Given the description of an element on the screen output the (x, y) to click on. 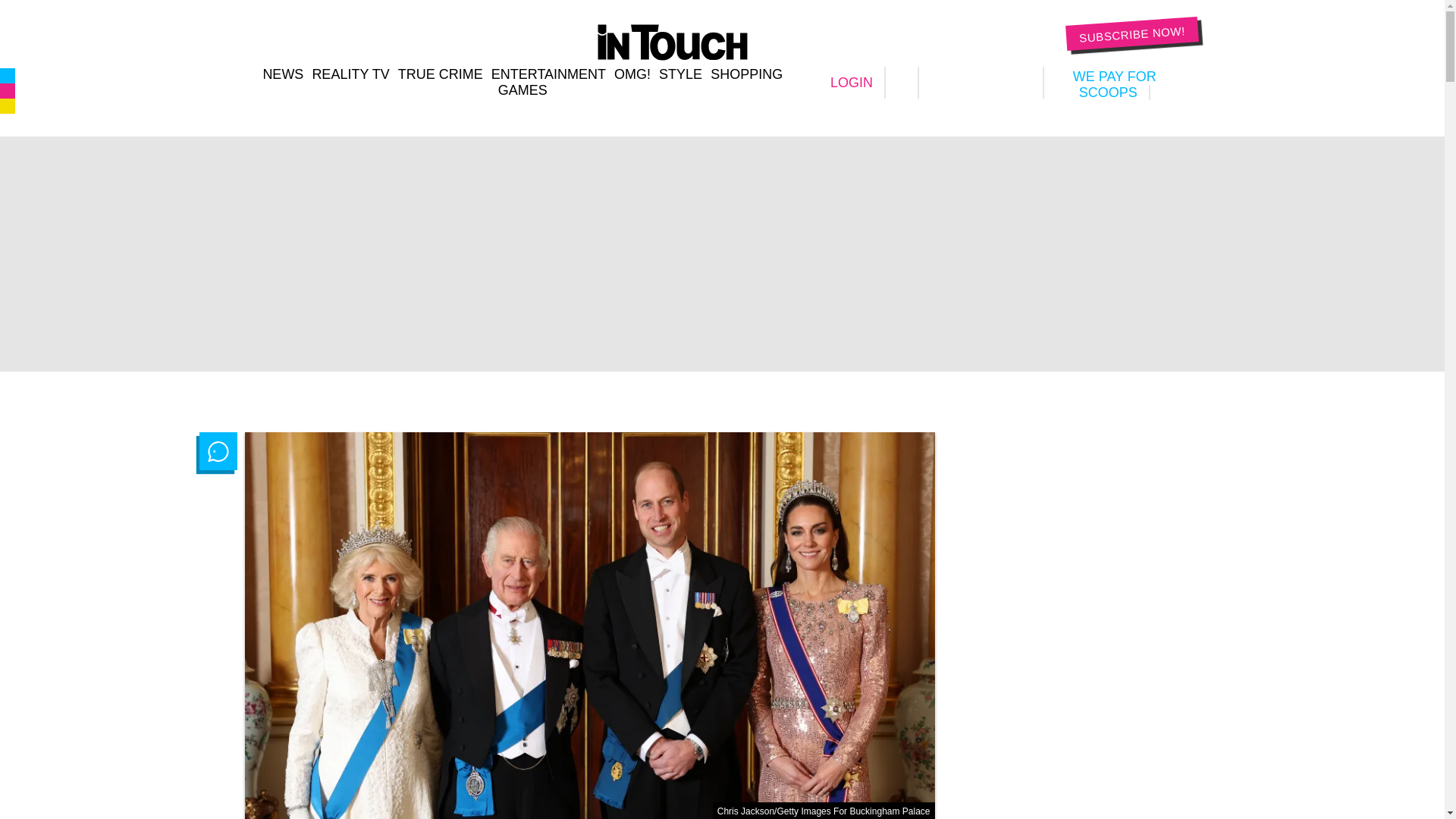
TRUE CRIME (440, 73)
REALITY TV (349, 73)
NEWS (282, 73)
